Given the description of an element on the screen output the (x, y) to click on. 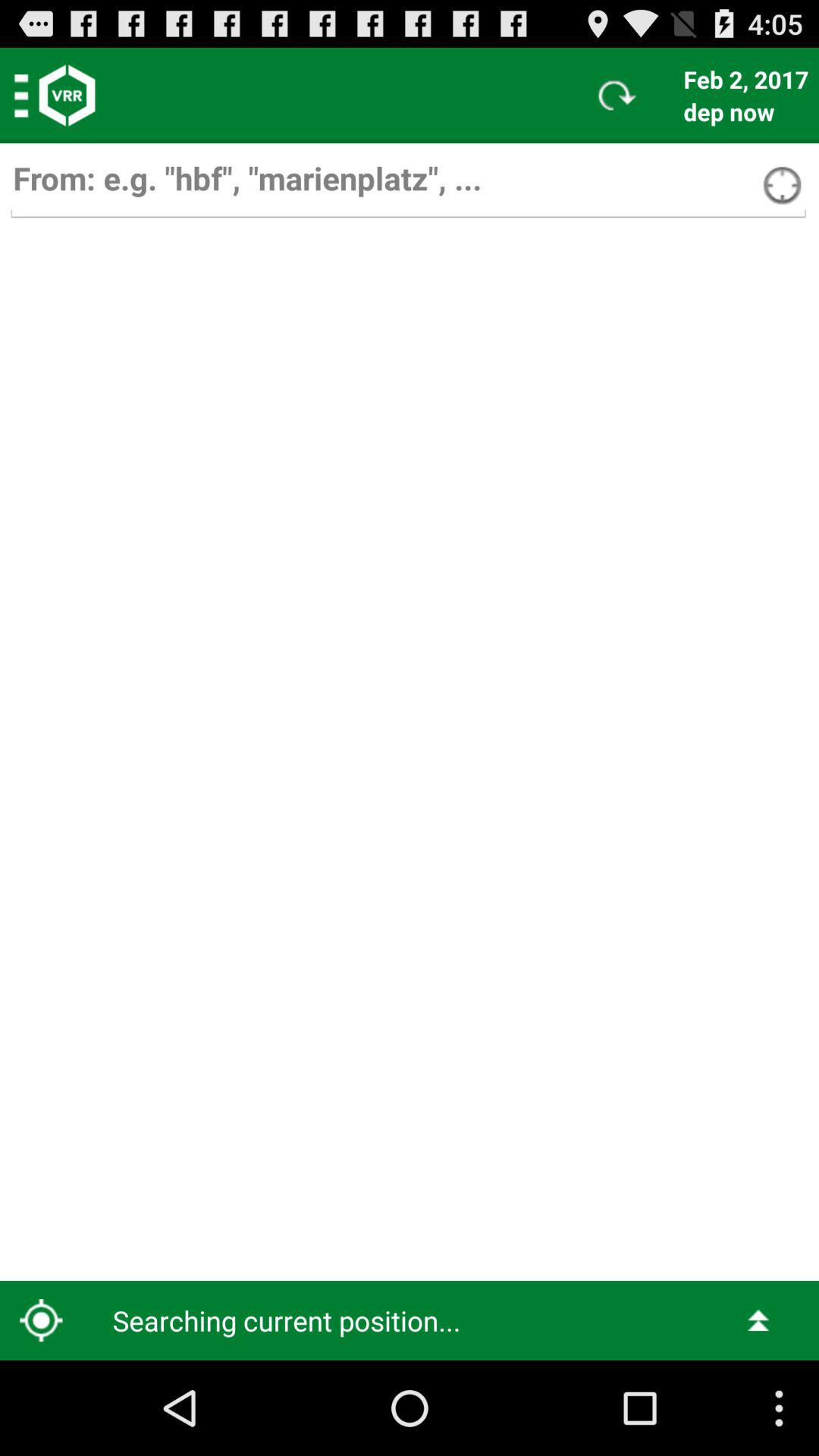
turn off item next to feb 2, 2017 (617, 95)
